Given the description of an element on the screen output the (x, y) to click on. 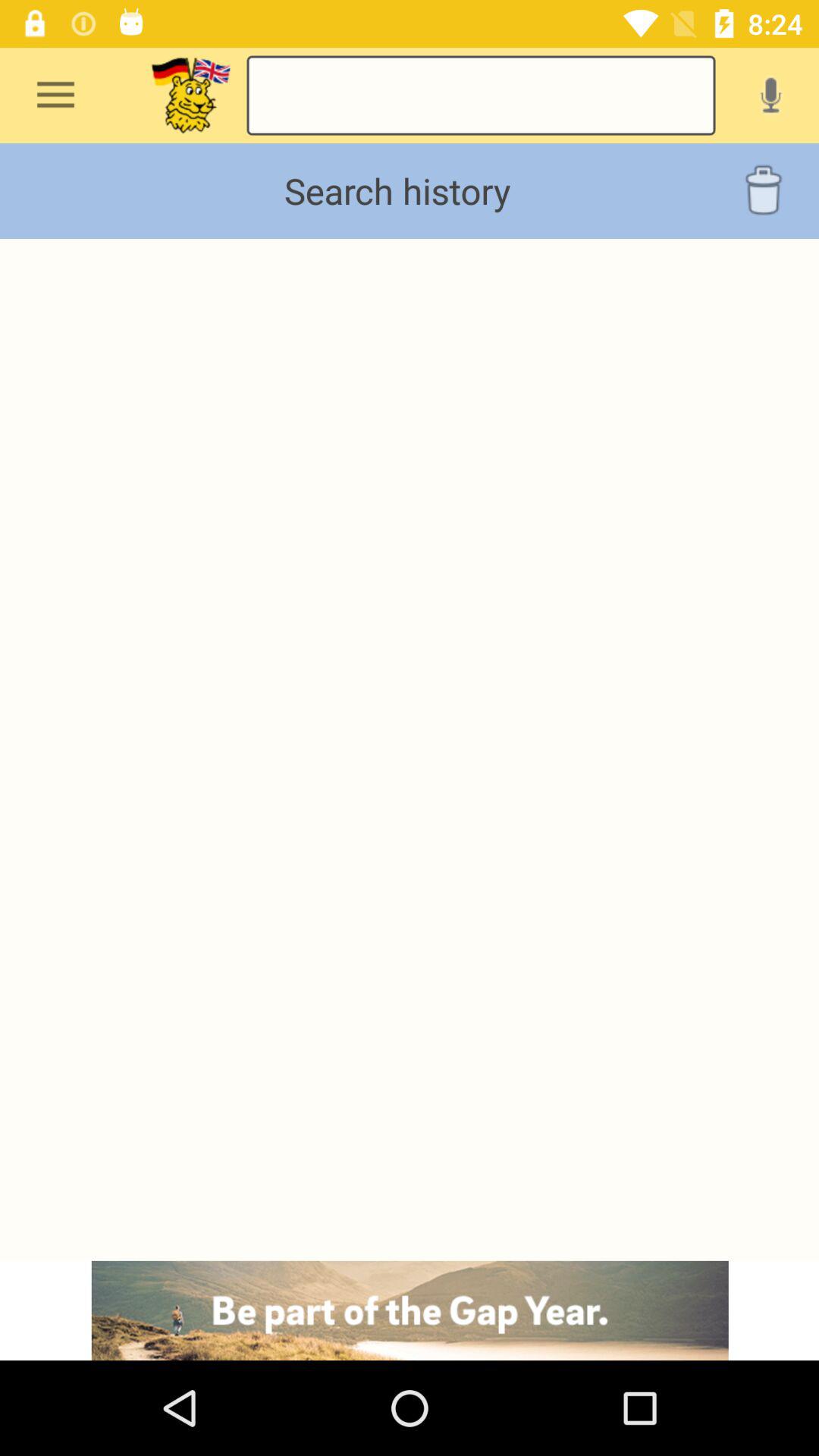
delete (763, 190)
